Given the description of an element on the screen output the (x, y) to click on. 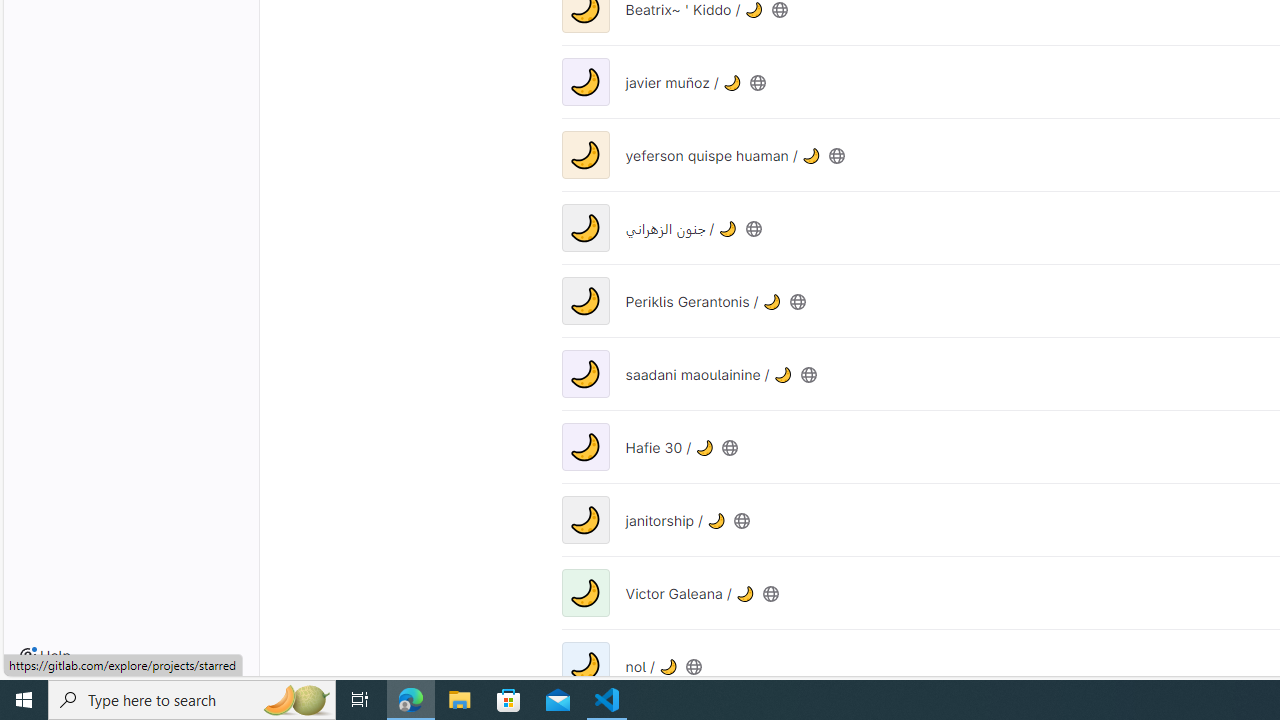
Help (45, 655)
Class: s16 (694, 666)
